Given the description of an element on the screen output the (x, y) to click on. 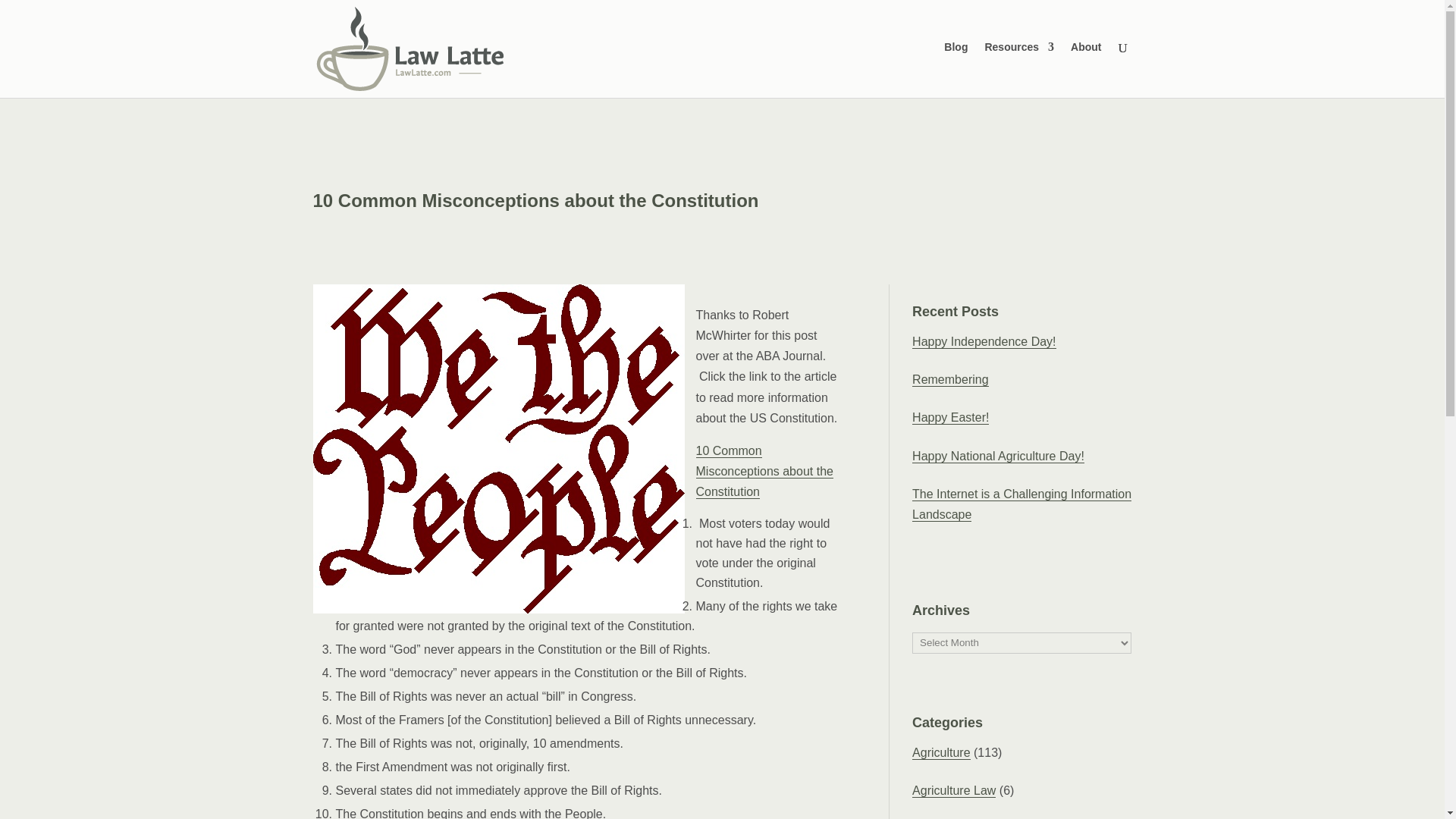
Resources (1019, 48)
Happy Easter! (950, 418)
Agriculture Law (953, 790)
About (1085, 48)
Happy Independence Day! (983, 341)
Happy National Agriculture Day! (998, 456)
The Internet is a Challenging Information Landscape (1021, 504)
Agriculture (940, 753)
Remembering (950, 379)
10 Common Misconceptions about the Constitution (763, 471)
